Given the description of an element on the screen output the (x, y) to click on. 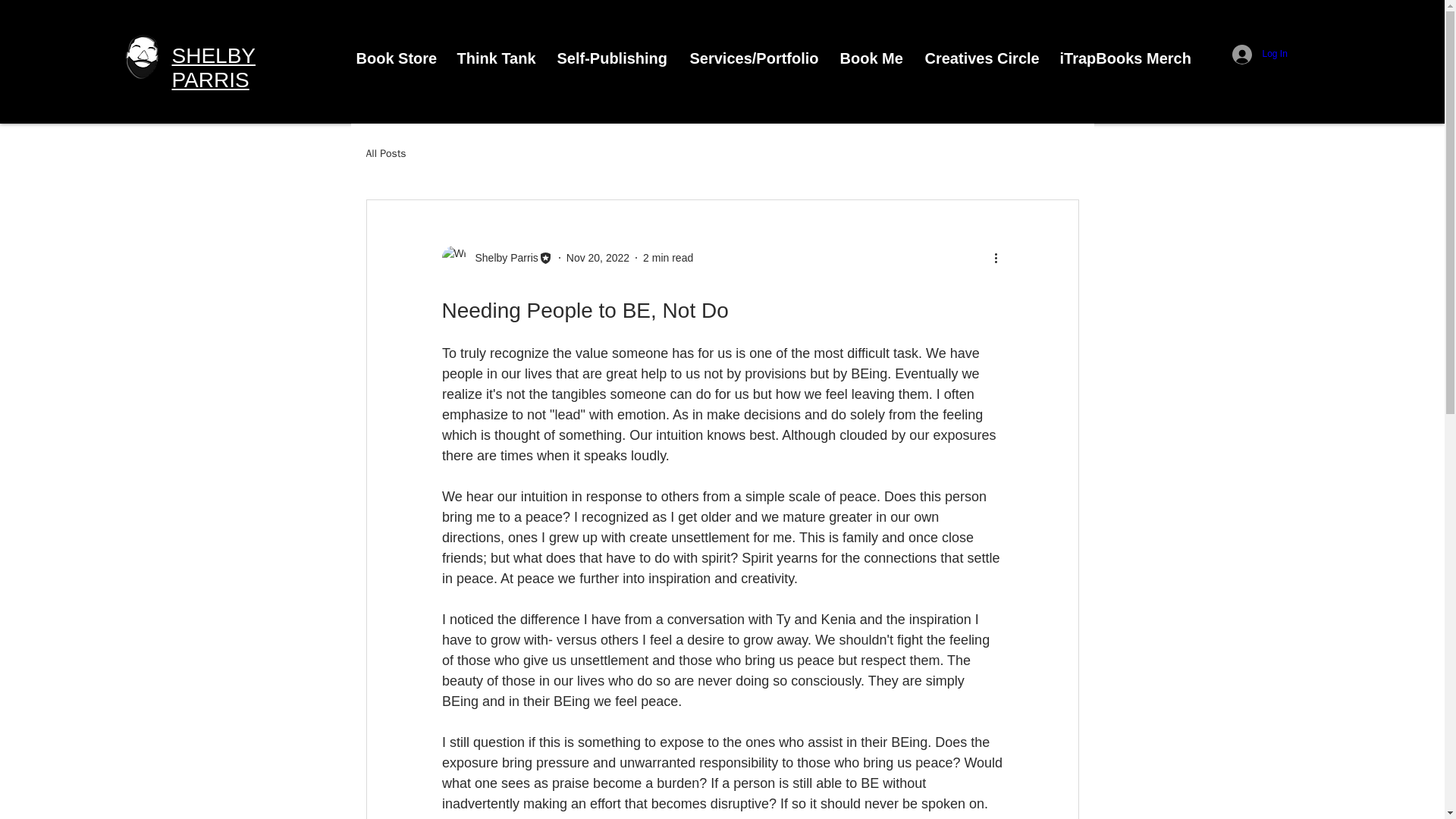
Self-Publishing (612, 58)
Think Tank (495, 58)
iTrapBooks Merch (1123, 58)
Shelby Parris (501, 258)
Log In (1238, 53)
Shelby Parris (496, 257)
2 min read (668, 257)
Book Me (870, 58)
All Posts (385, 153)
Nov 20, 2022 (597, 257)
SHELBY PARRIS (213, 67)
Book Store (394, 58)
Creatives Circle (980, 58)
